Given the description of an element on the screen output the (x, y) to click on. 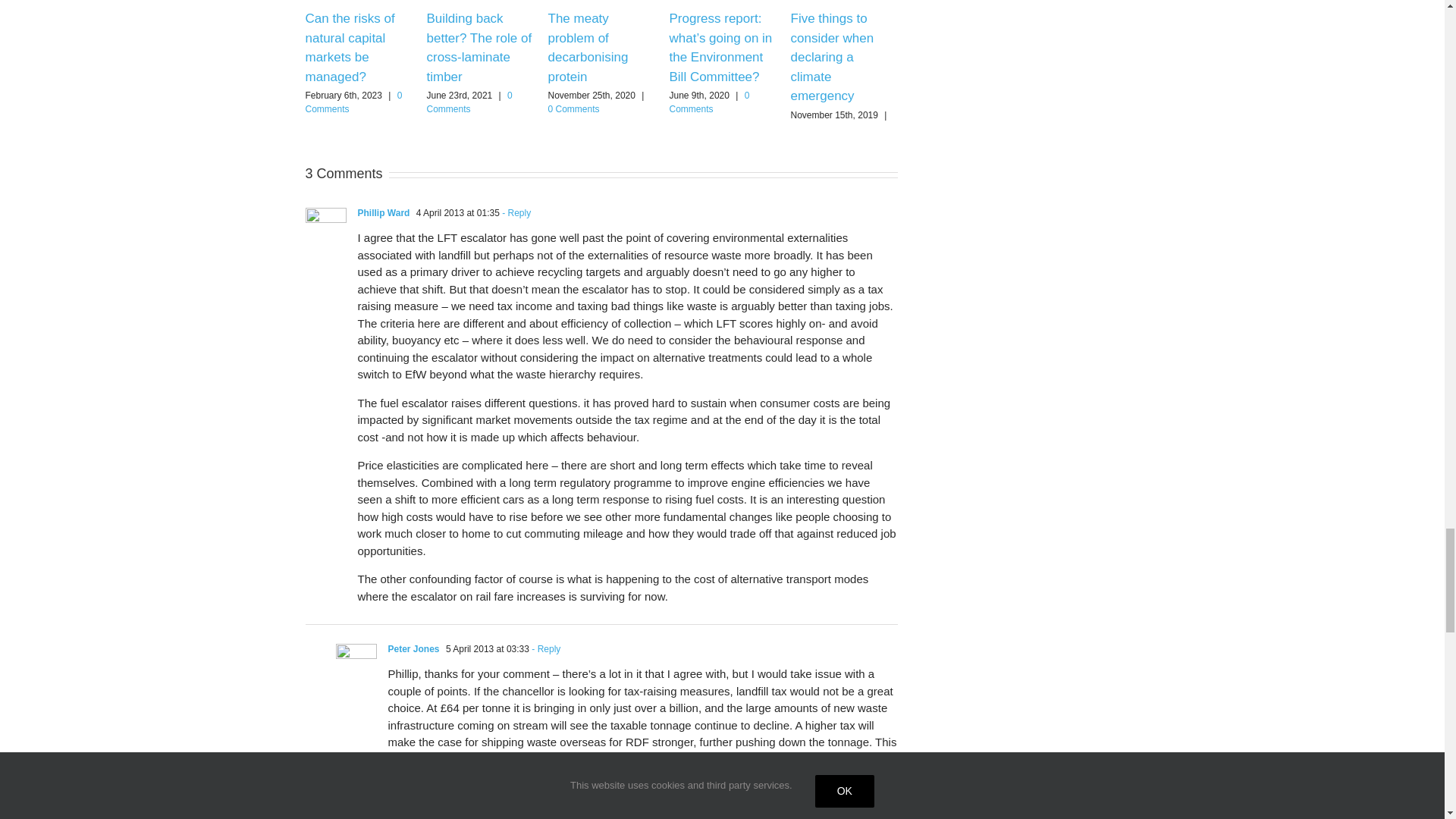
Can the risks of natural capital markets be managed? (349, 47)
The meaty problem of decarbonising protein (587, 47)
Building back better? The role of cross-laminate timber (478, 47)
